Given the description of an element on the screen output the (x, y) to click on. 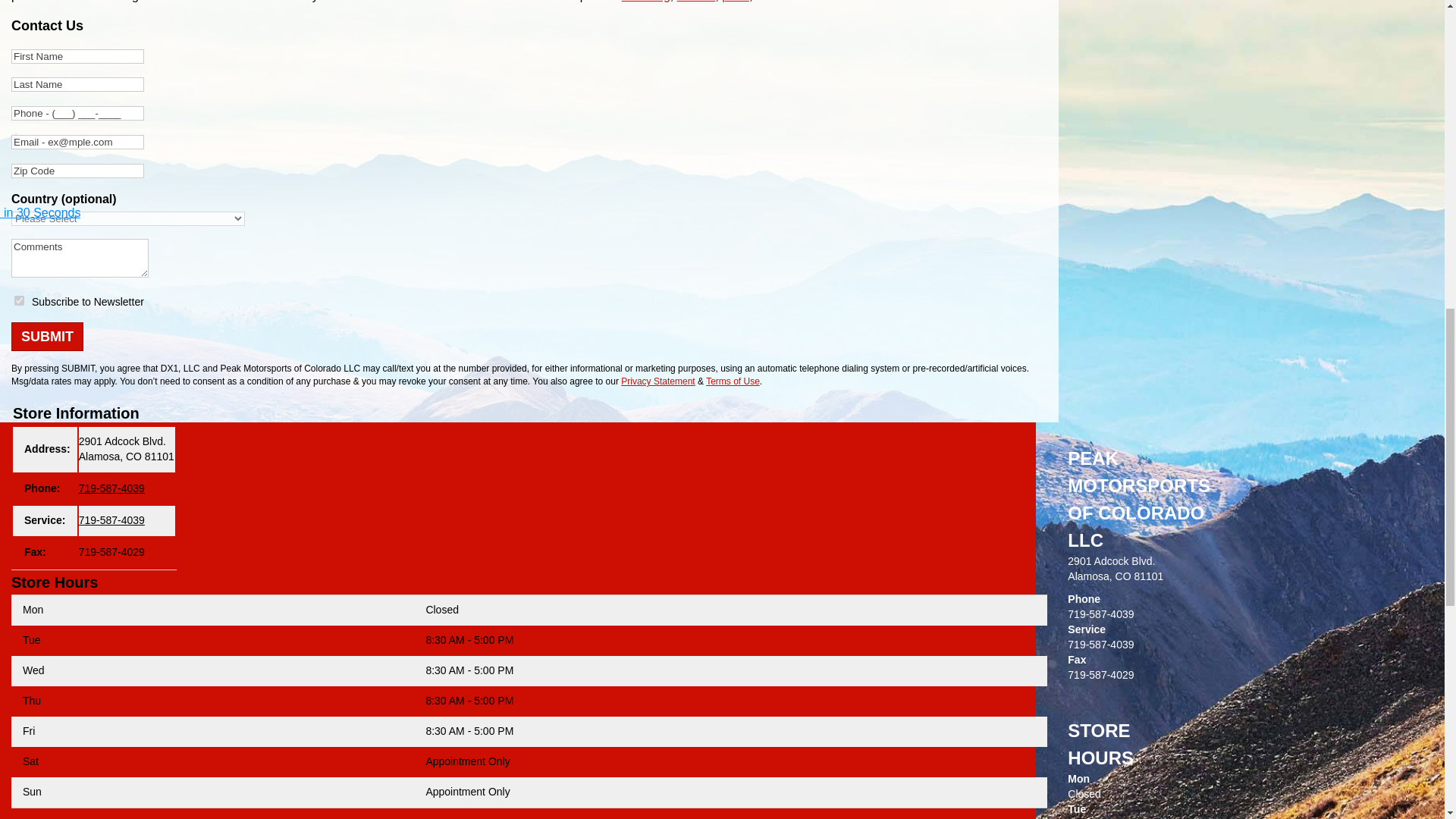
on (19, 300)
Submit (46, 336)
